Given the description of an element on the screen output the (x, y) to click on. 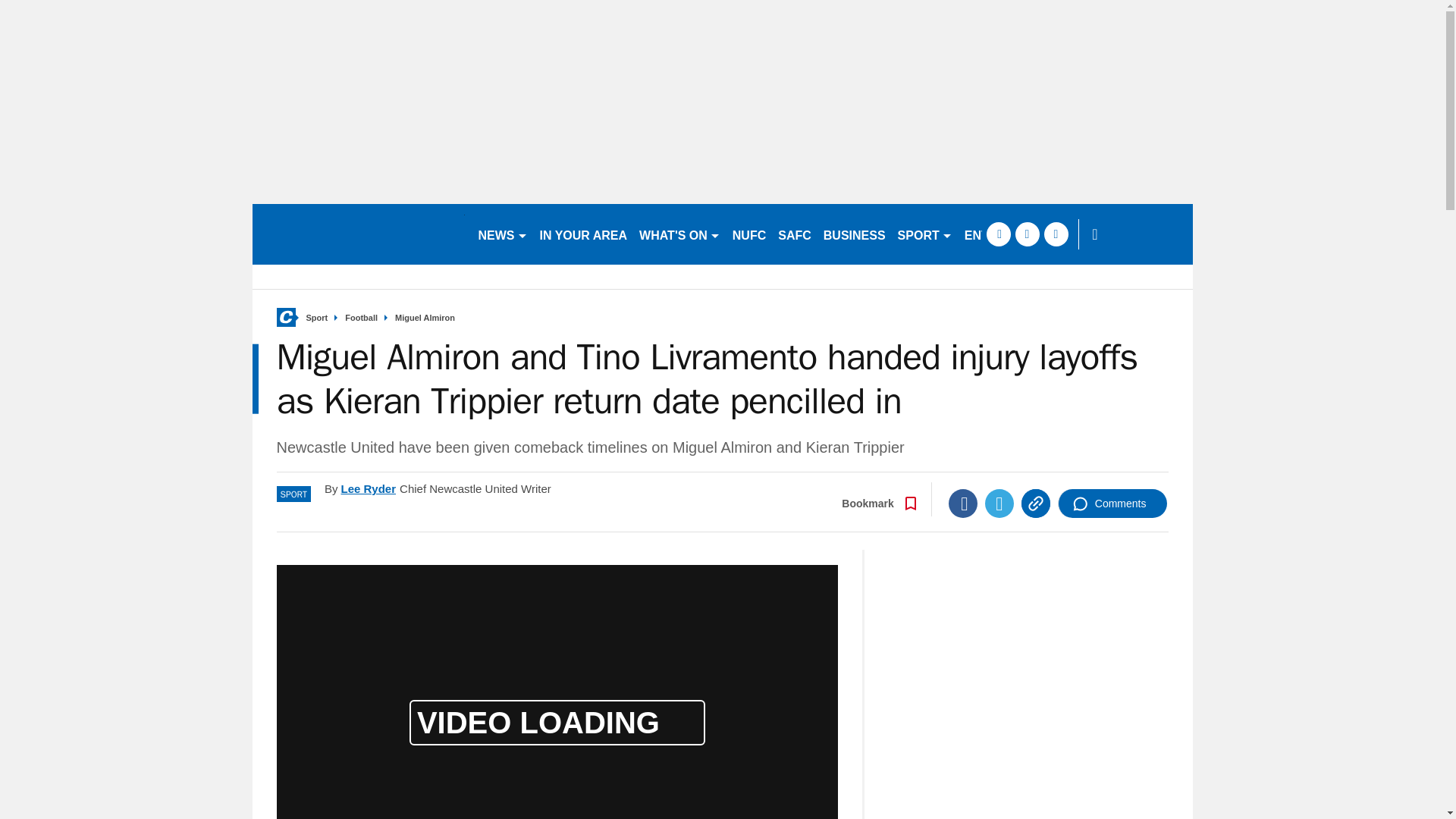
WHAT'S ON (679, 233)
Facebook (962, 502)
instagram (1055, 233)
IN YOUR AREA (583, 233)
NEWS (501, 233)
twitter (1026, 233)
nechronicle (357, 233)
facebook (997, 233)
SPORT (924, 233)
Twitter (999, 502)
BUSINESS (853, 233)
Comments (1112, 502)
